Given the description of an element on the screen output the (x, y) to click on. 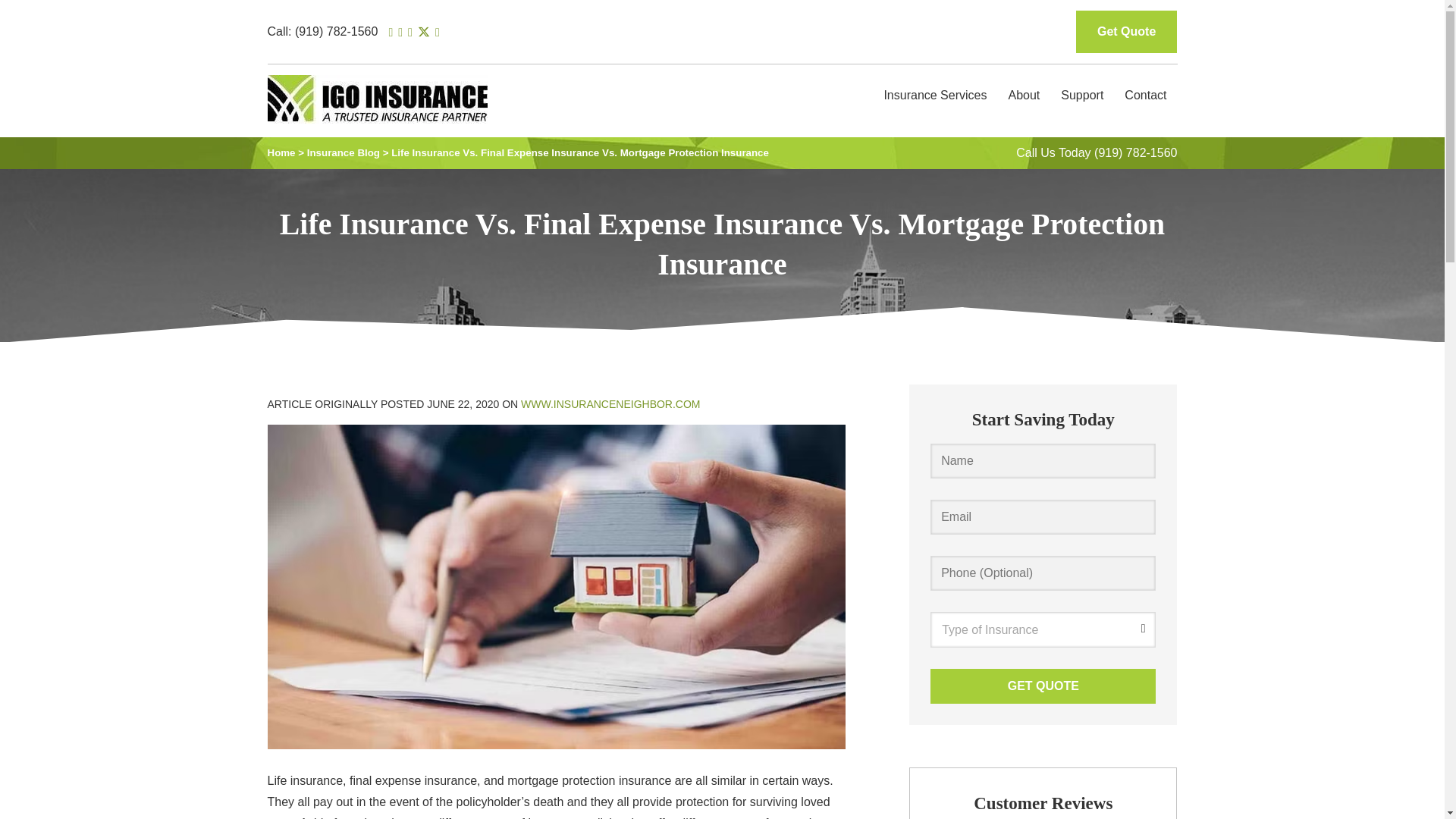
logo (376, 100)
Home Page (411, 95)
Insurance Services (934, 95)
LinkedIn (437, 32)
Facebook (409, 32)
X (423, 31)
Google Maps (390, 32)
Get Quote (1125, 31)
Get Quote (1043, 686)
Yelp (400, 32)
